Given the description of an element on the screen output the (x, y) to click on. 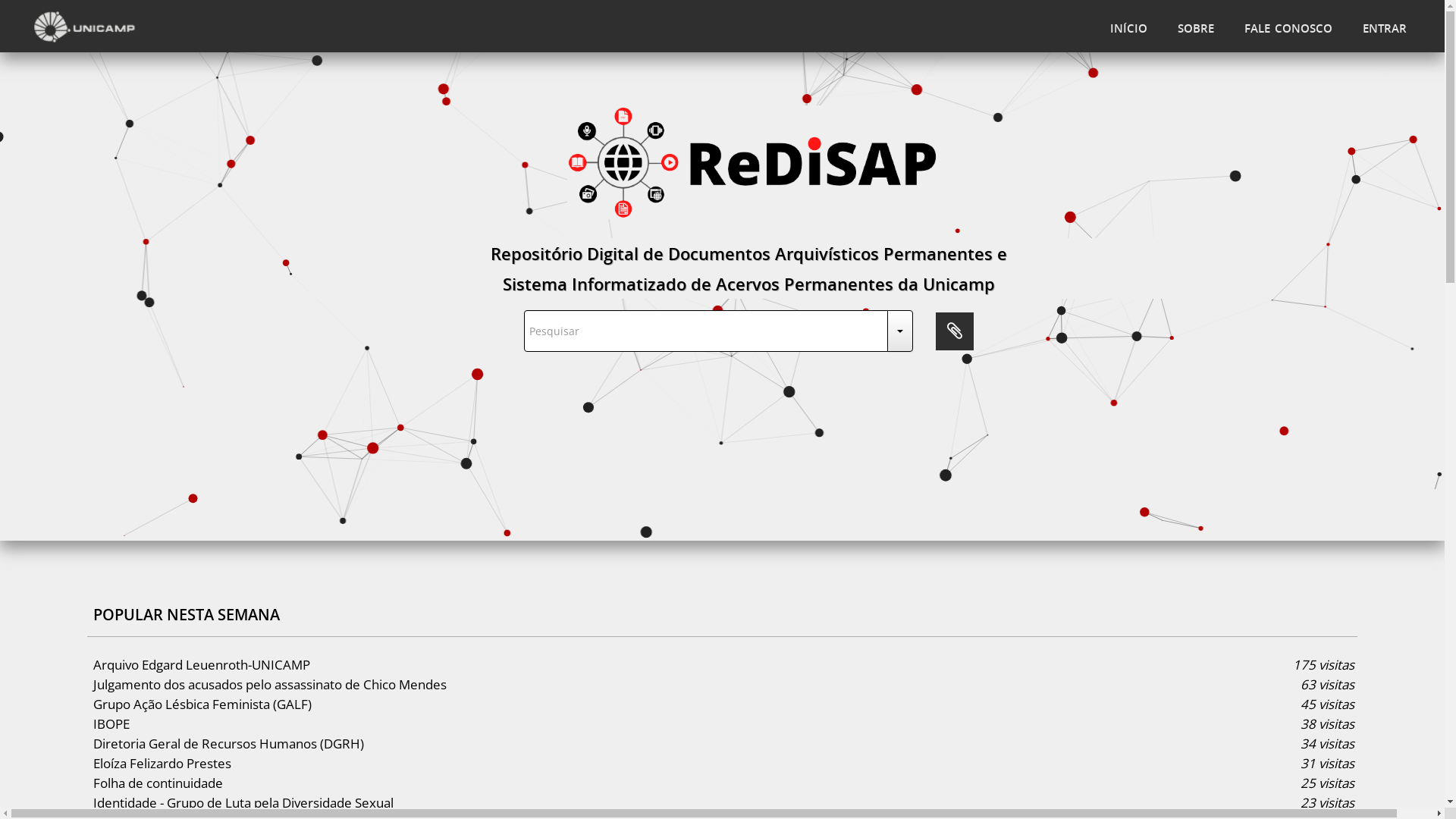
sobre Element type: text (1195, 25)
IBOPE
  38 visitas Element type: text (722, 724)
Diretoria Geral de Recursos Humanos (DGRH)
  34 visitas Element type: text (722, 743)
Folha de continuidade
  25 visitas Element type: text (722, 783)
Arquivo Edgard Leuenroth-UNICAMP
  175 visitas Element type: text (722, 664)
entrar Element type: text (1384, 25)
fale conosco Element type: text (1287, 25)
